Given the description of an element on the screen output the (x, y) to click on. 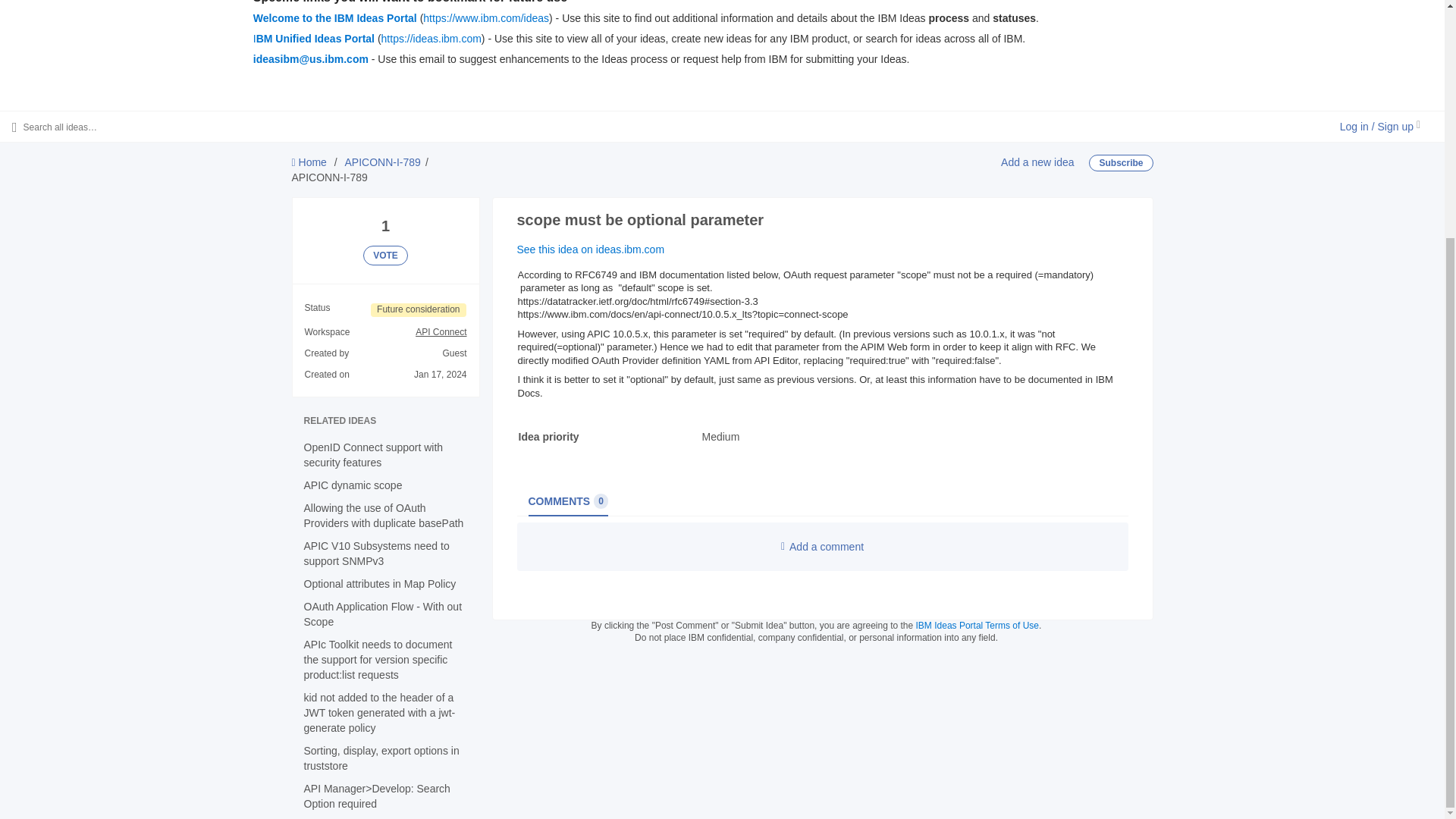
APICONN-I-789 (382, 162)
APIC V10 Subsystems need to support SNMPv3 (375, 553)
APIC dynamic scope (351, 485)
VOTE (385, 255)
See this idea on ideas.ibm.com (590, 249)
OAuth Application Flow - With out Scope (381, 614)
Sorting, display, export options in truststore (380, 758)
Future consideration (418, 309)
Home (310, 162)
Welcome to the IBM Ideas Portal (334, 18)
IBM Ideas Portal Terms of Use (977, 624)
Add a new idea (1037, 162)
IBM Unified Ideas Portal (313, 38)
OpenID Connect support with security features (372, 454)
